Given the description of an element on the screen output the (x, y) to click on. 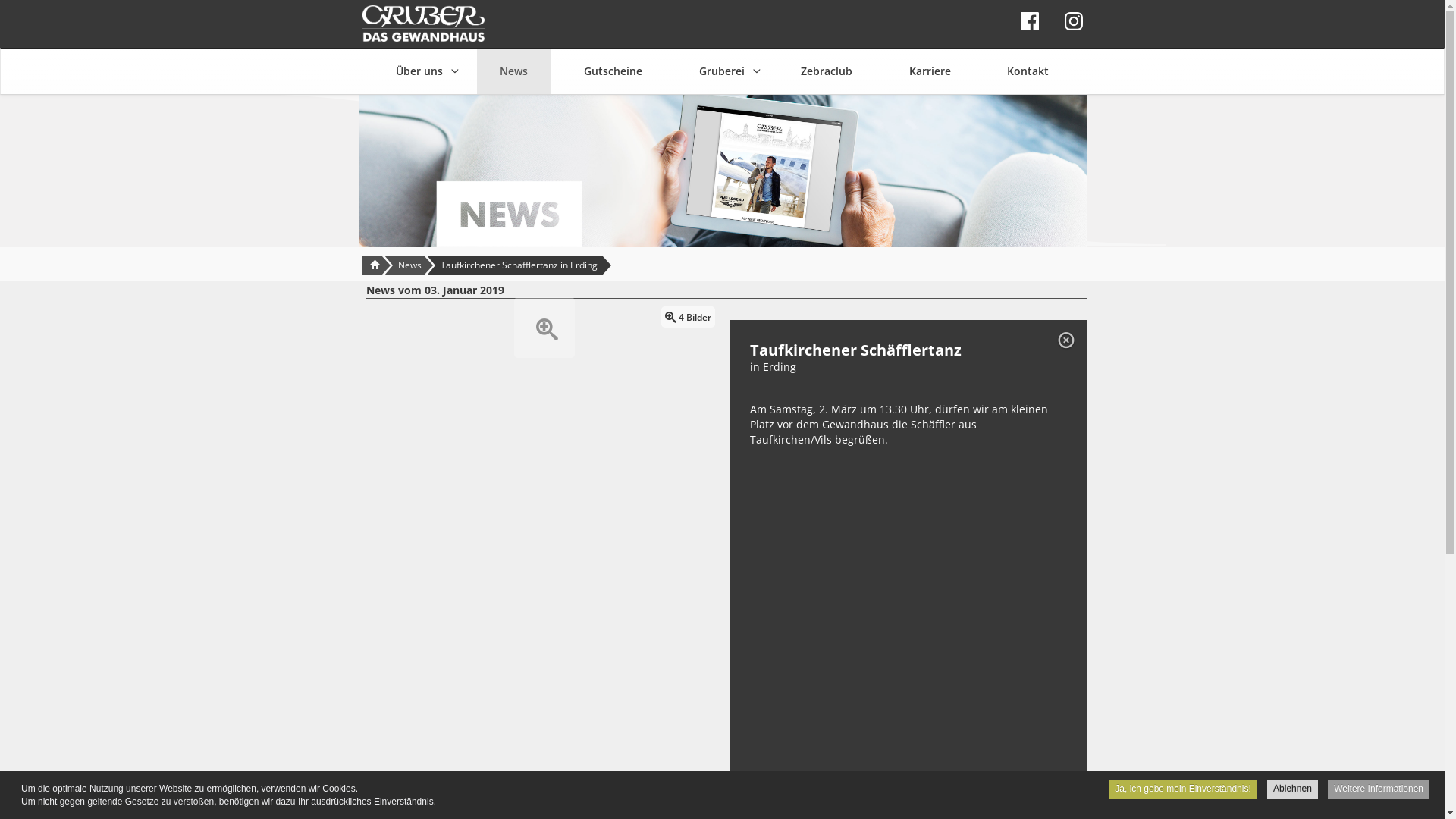
Ablehnen Element type: text (1292, 788)
Gutscheine Element type: text (613, 71)
Zebraclub Element type: text (826, 71)
Gruberei Element type: text (721, 71)
Weitere Informationen Element type: text (1378, 788)
Kontakt Element type: text (1027, 71)
News Element type: text (409, 264)
Karriere Element type: text (928, 71)
News Element type: text (512, 71)
4 Bilder Element type: text (543, 327)
